Given the description of an element on the screen output the (x, y) to click on. 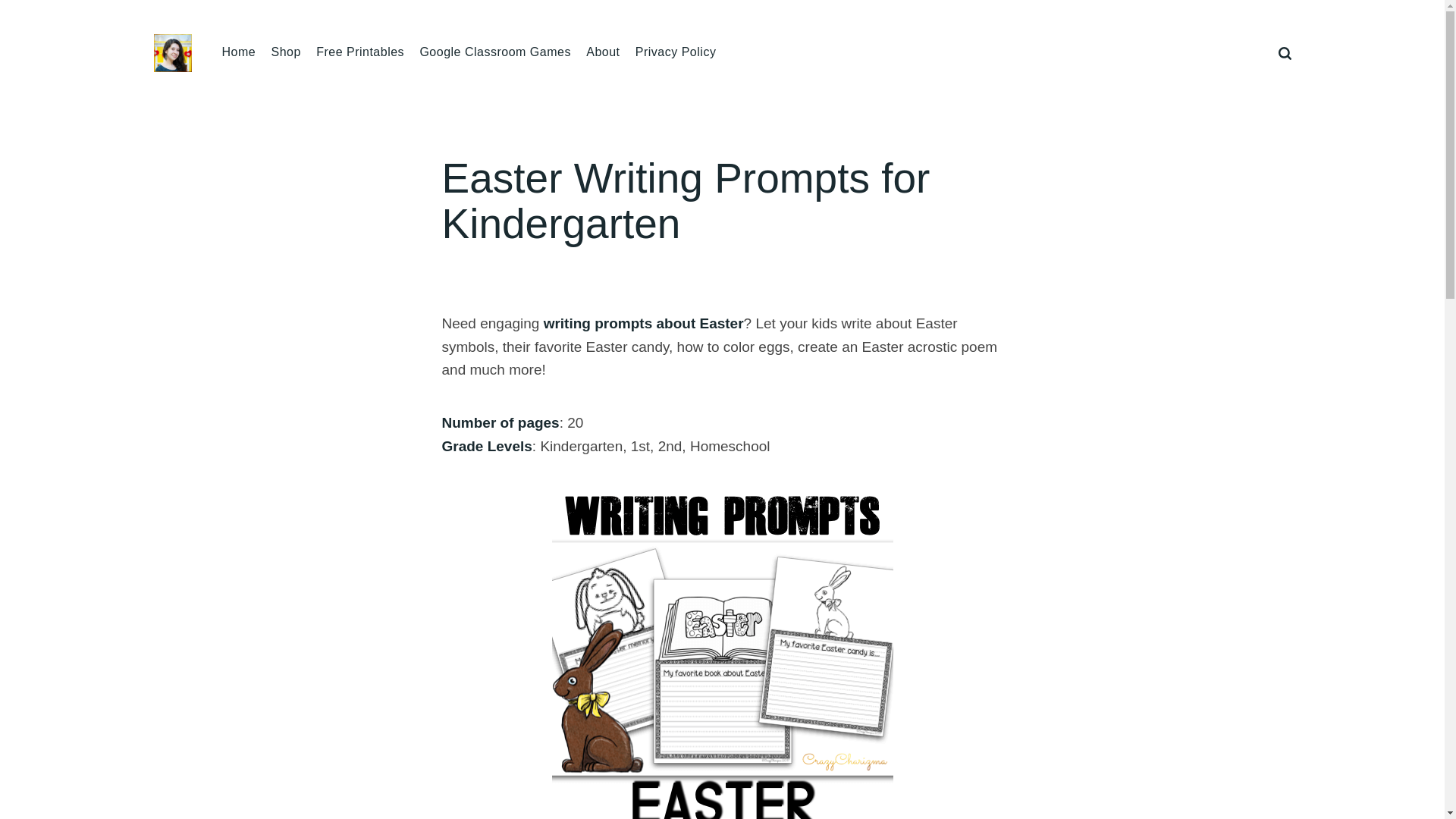
Home (238, 52)
Free Printables (359, 52)
Shop (284, 52)
Privacy Policy (675, 52)
About (603, 52)
Google Classroom Games (494, 52)
